Given the description of an element on the screen output the (x, y) to click on. 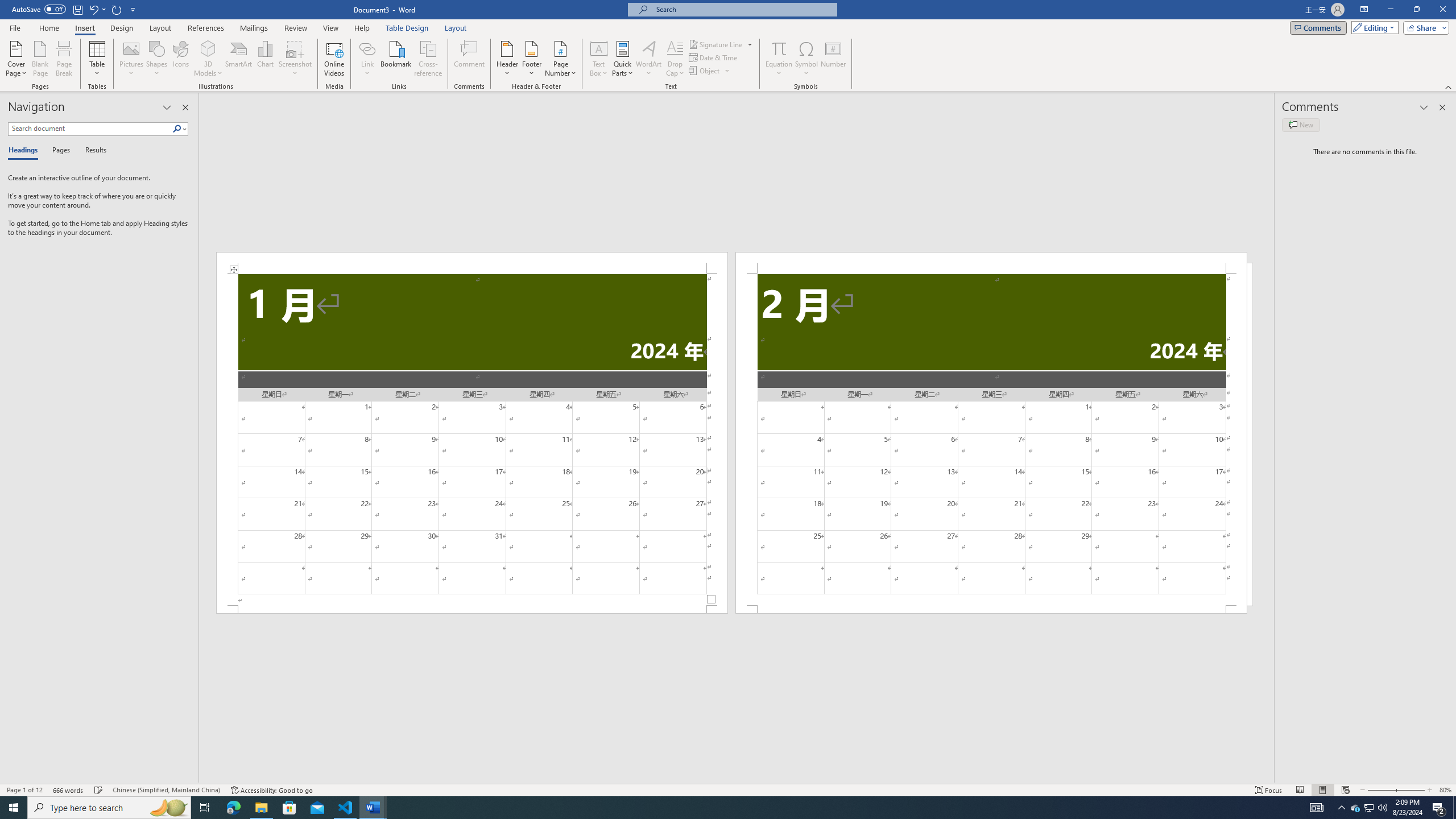
Zoom In (1408, 790)
Equation (778, 48)
Accessibility Checker Accessibility: Good to go (271, 790)
Ribbon Display Options (1364, 9)
Headings (25, 150)
Icons (180, 58)
Shapes (156, 58)
Home (48, 28)
Review (295, 28)
Link (367, 58)
Chart... (265, 58)
Table (97, 58)
